Given the description of an element on the screen output the (x, y) to click on. 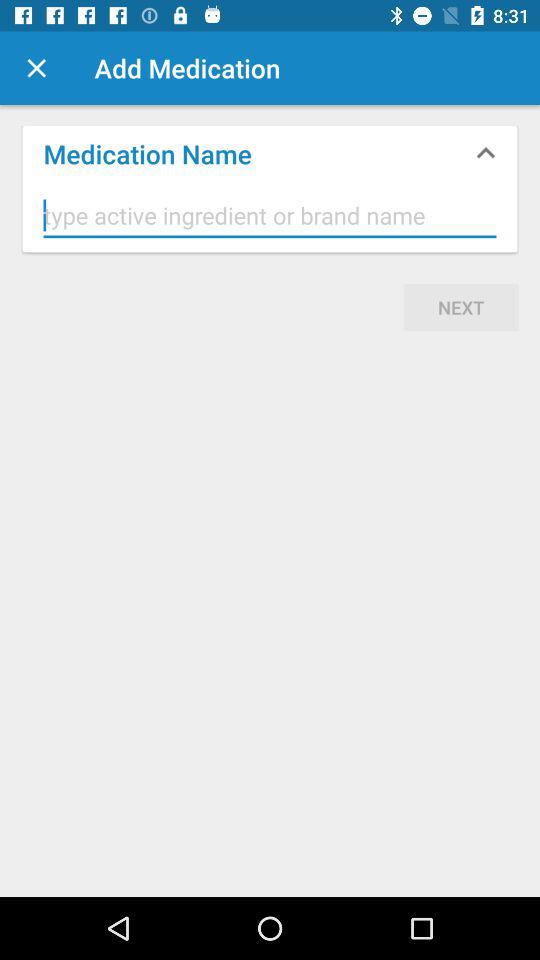
medication name (269, 216)
